Given the description of an element on the screen output the (x, y) to click on. 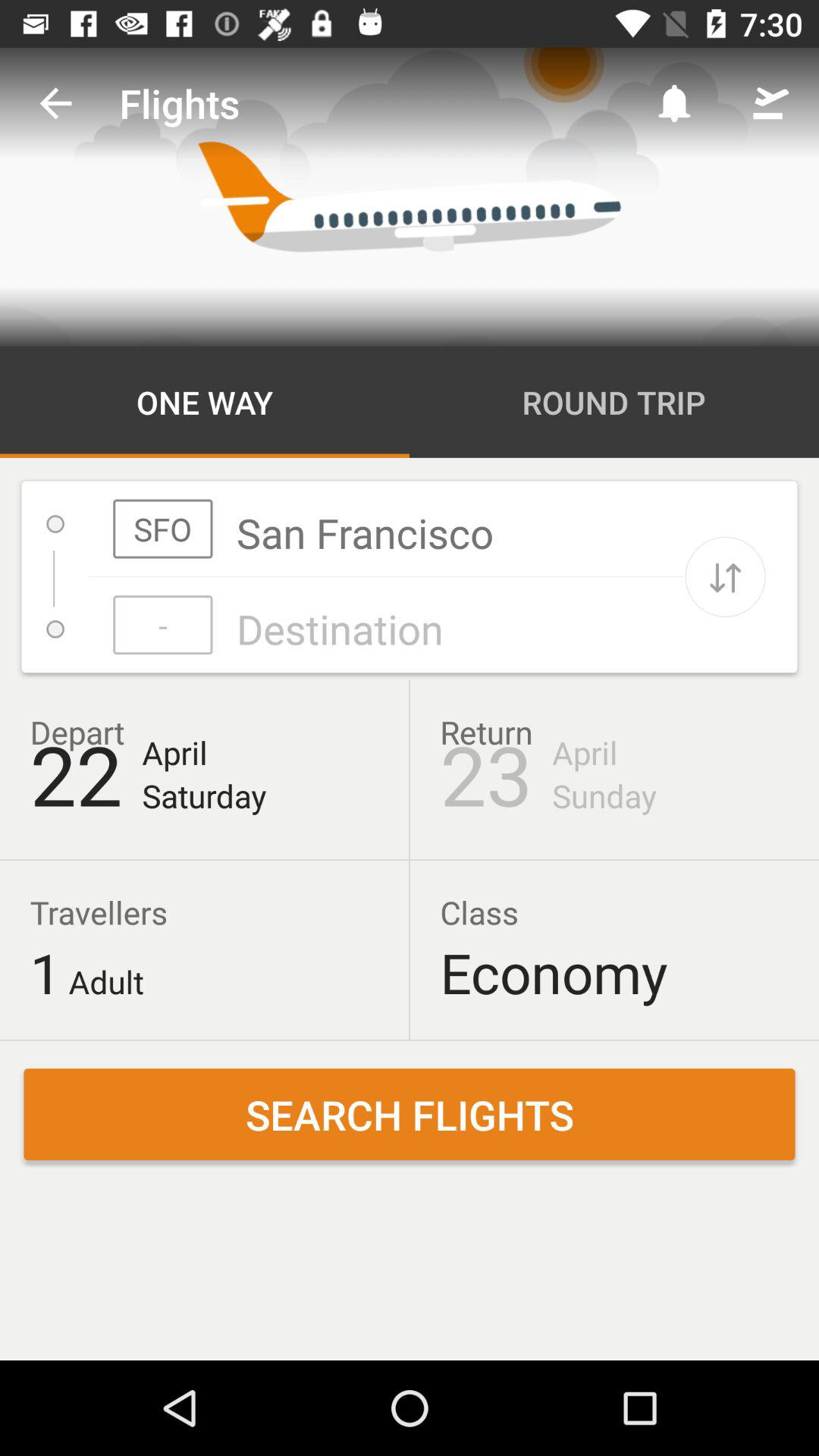
click on round trip (614, 402)
go to destination (386, 624)
